Given the description of an element on the screen output the (x, y) to click on. 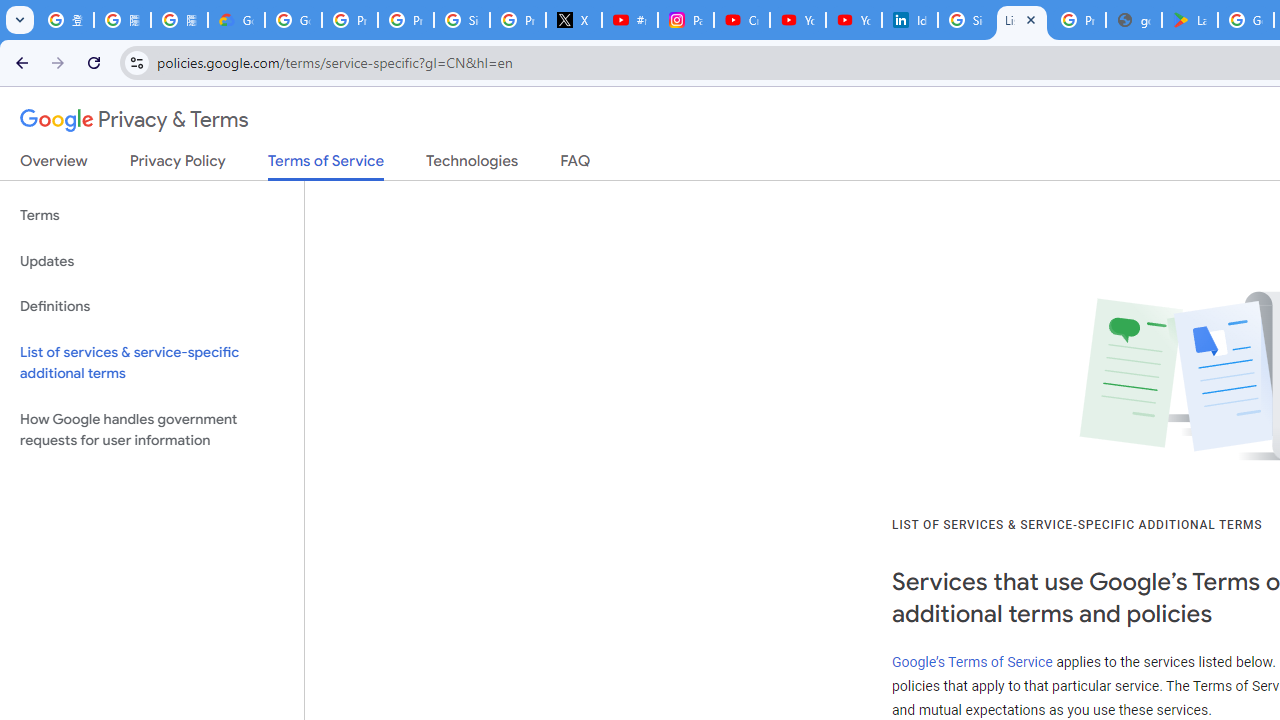
X (573, 20)
Sign in - Google Accounts (966, 20)
Google Cloud Privacy Notice (235, 20)
